Given the description of an element on the screen output the (x, y) to click on. 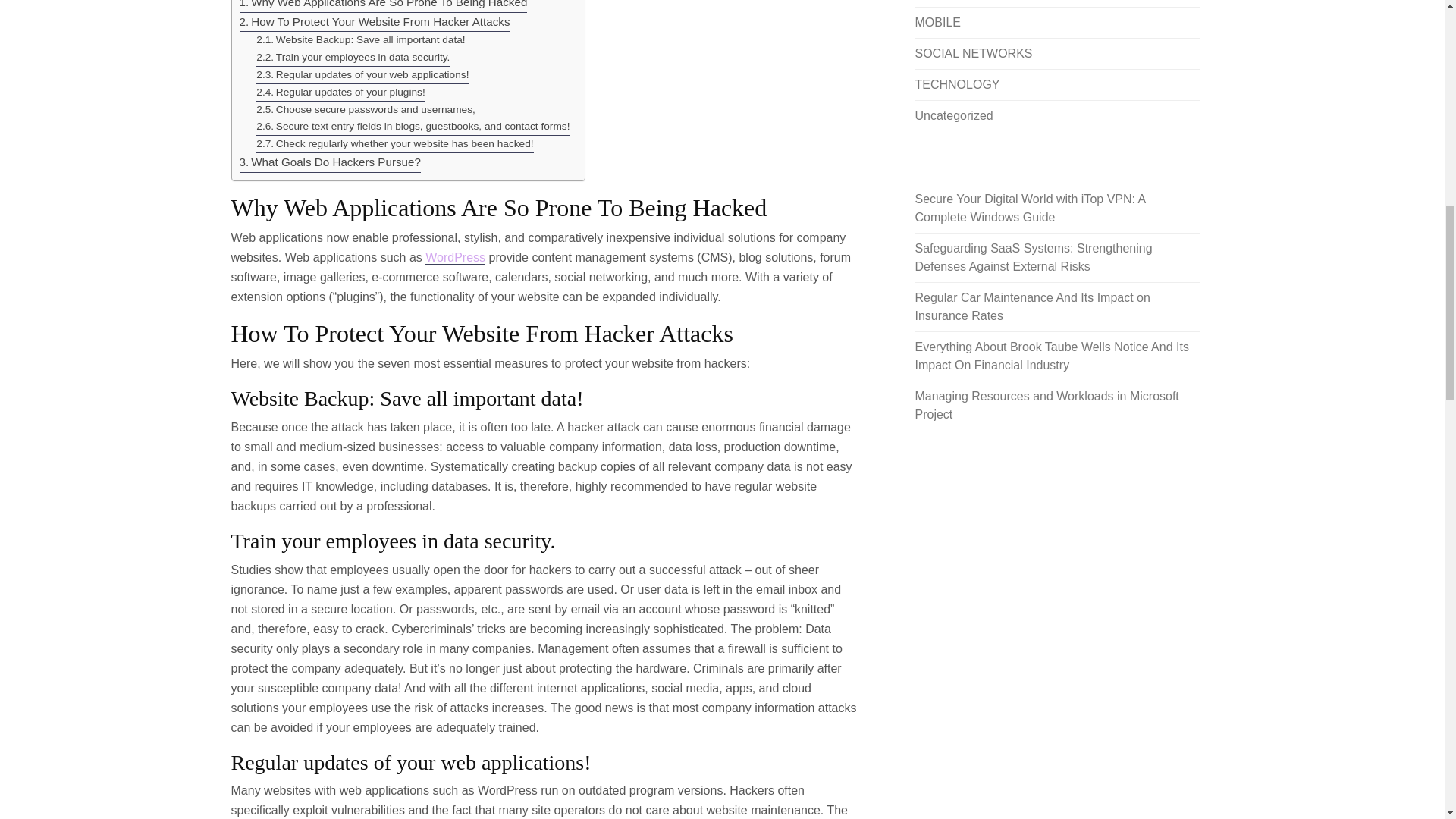
Train your employees in data security. (352, 57)
How To Protect Your Website From Hacker Attacks (375, 22)
Regular updates of your web applications! (362, 75)
Check regularly whether your website has been hacked! (394, 144)
WordPress (454, 257)
Why Web Applications Are So Prone To Being Hacked (383, 6)
What Goals Do Hackers Pursue? (330, 162)
Regular updates of your plugins! (340, 92)
Regular updates of your plugins! (340, 92)
Why Web Applications Are So Prone To Being Hacked (383, 6)
Check regularly whether your website has been hacked! (394, 144)
Regular updates of your web applications! (362, 75)
Choose secure passwords and usernames, (366, 109)
What Goals Do Hackers Pursue? (330, 162)
